Given the description of an element on the screen output the (x, y) to click on. 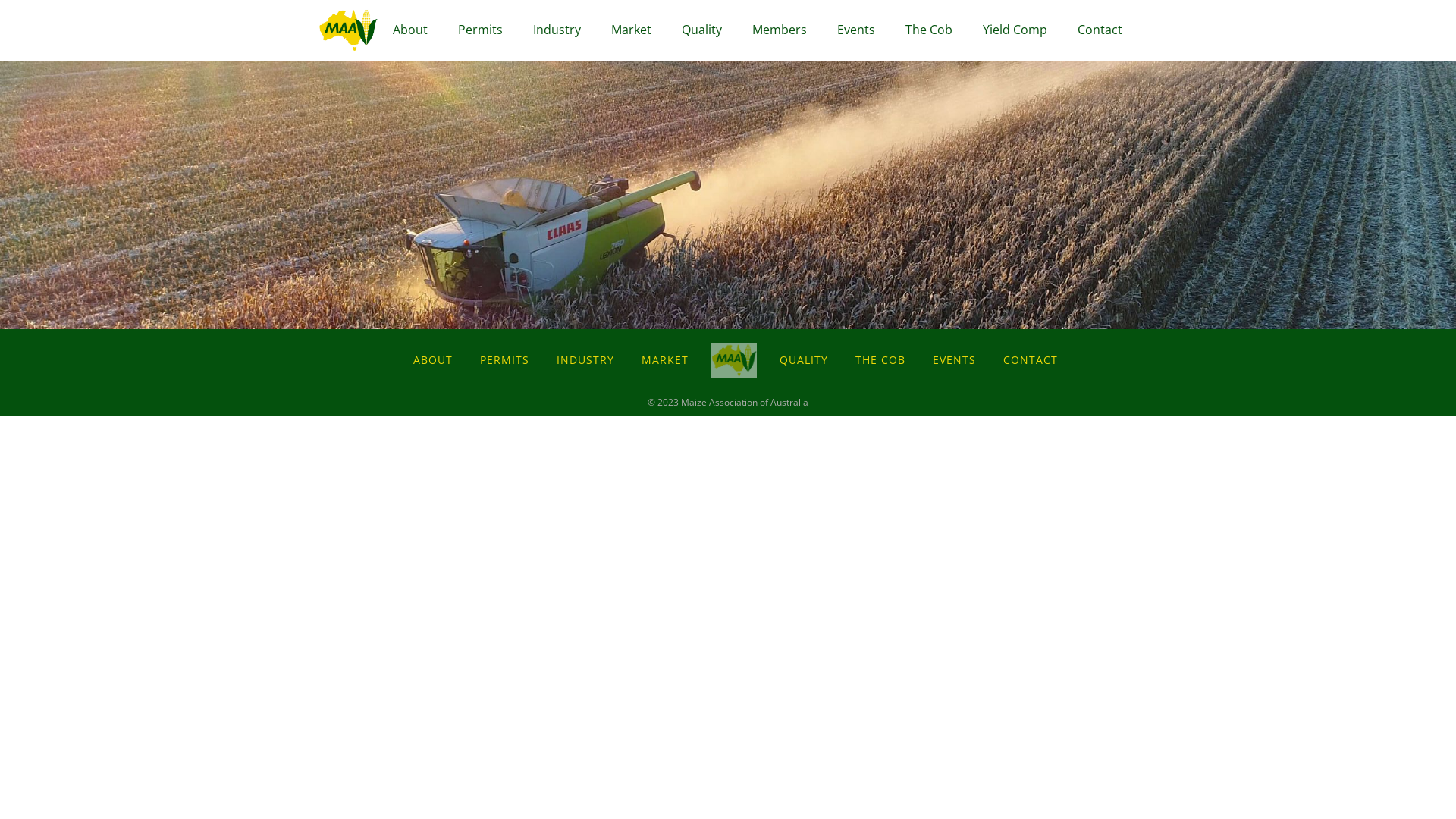
Contact Element type: text (1099, 30)
ABOUT Element type: text (432, 359)
Permits Element type: text (479, 30)
EVENTS Element type: text (954, 359)
Industry Element type: text (556, 30)
Yield Comp Element type: text (1014, 30)
QUALITY Element type: text (803, 359)
Members Element type: text (779, 30)
PERMITS Element type: text (504, 359)
About Element type: text (409, 30)
INDUSTRY Element type: text (584, 359)
Market Element type: text (631, 30)
Events Element type: text (856, 30)
Quality Element type: text (701, 30)
CONTACT Element type: text (1030, 359)
MARKET Element type: text (664, 359)
The Cob Element type: text (928, 30)
THE COB Element type: text (880, 359)
